Given the description of an element on the screen output the (x, y) to click on. 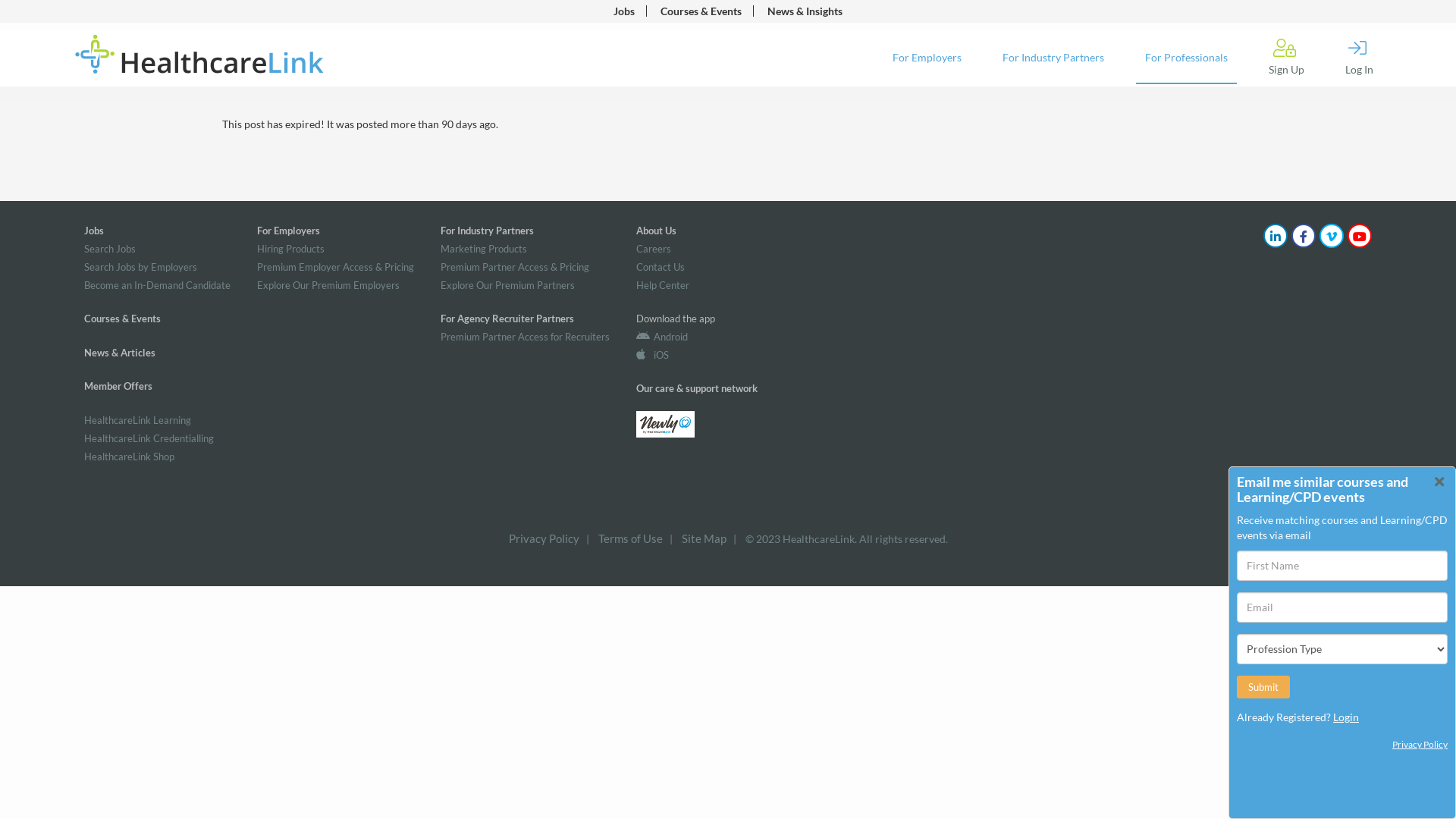
For Professionals Element type: text (1185, 58)
Courses & Events Element type: text (700, 10)
Terms of Use Element type: text (629, 538)
Privacy Policy Element type: text (543, 538)
Explore Our Premium Partners Element type: text (507, 285)
Explore Our Premium Employers Element type: text (328, 285)
Careers Element type: text (653, 248)
Premium Partner Access & Pricing Element type: text (514, 266)
Member Offers Element type: text (118, 385)
Our care & support network Element type: text (696, 388)
Courses & Events Element type: text (122, 318)
For Employers Element type: text (288, 230)
For Industry Partners Element type: text (486, 230)
News & Articles Element type: text (119, 352)
iOS Element type: text (652, 354)
HealthcareLink Learning Element type: text (137, 420)
Hiring Products Element type: text (290, 248)
Search Jobs by Employers Element type: text (140, 266)
Android Element type: text (661, 336)
Search Jobs Element type: text (109, 248)
Help Center Element type: text (662, 285)
Premium Partner Access for Recruiters Element type: text (524, 336)
HealthcareLink Credentialling Element type: text (148, 438)
For Employers Element type: text (926, 58)
Marketing Products Element type: text (483, 248)
Jobs Element type: text (93, 230)
Become an In-Demand Candidate Element type: text (157, 285)
For Agency Recruiter Partners Element type: text (507, 318)
Contact Us Element type: text (660, 266)
For Industry Partners Element type: text (1053, 58)
Sign Up Element type: text (1286, 57)
Premium Employer Access & Pricing Element type: text (335, 266)
About Us Element type: text (656, 230)
News & Insights Element type: text (804, 10)
HealthcareLink Shop Element type: text (129, 456)
Site Map Element type: text (702, 538)
Log In Element type: text (1359, 57)
Jobs Element type: text (623, 10)
